Given the description of an element on the screen output the (x, y) to click on. 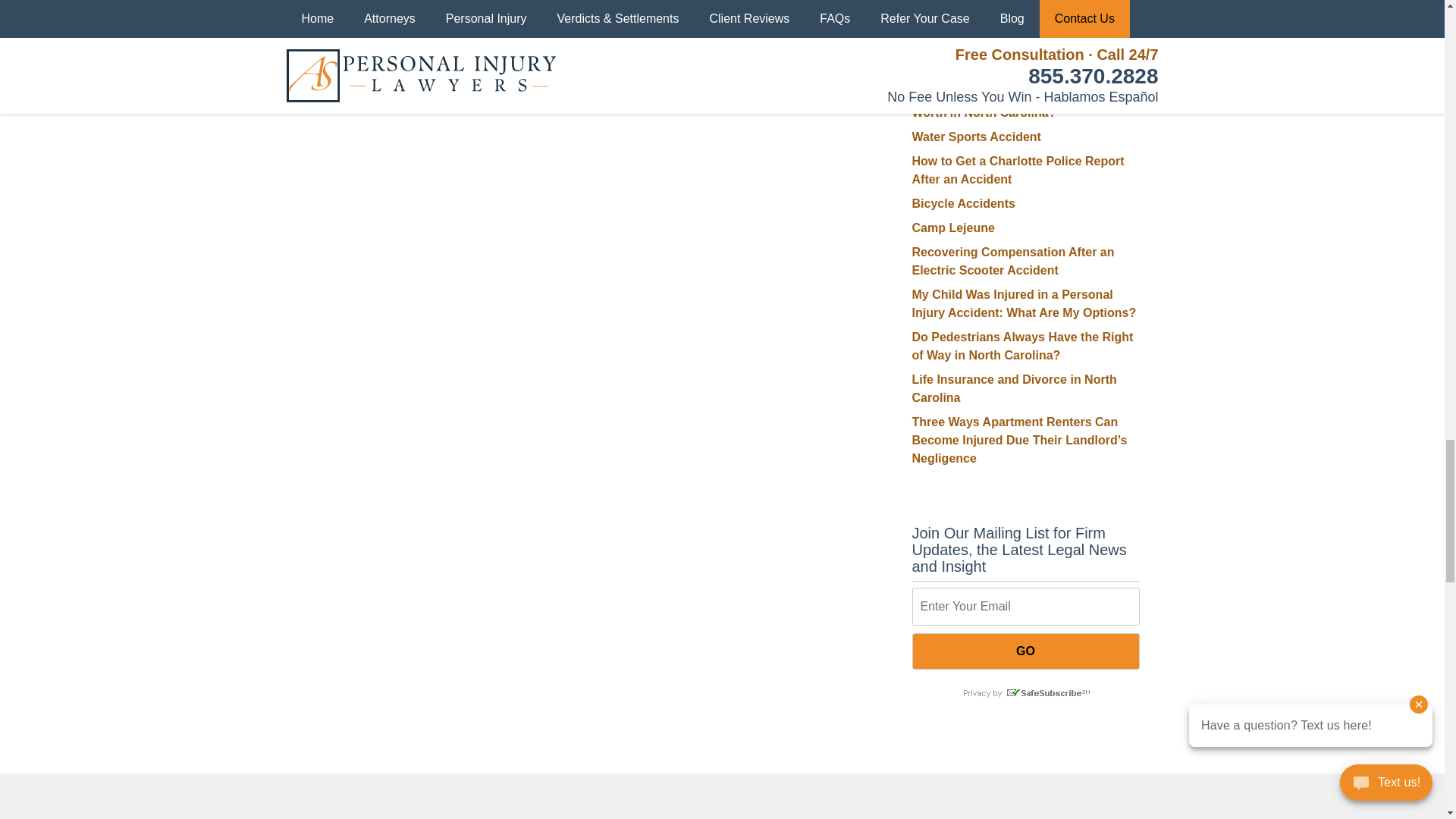
Go (1024, 651)
